Given the description of an element on the screen output the (x, y) to click on. 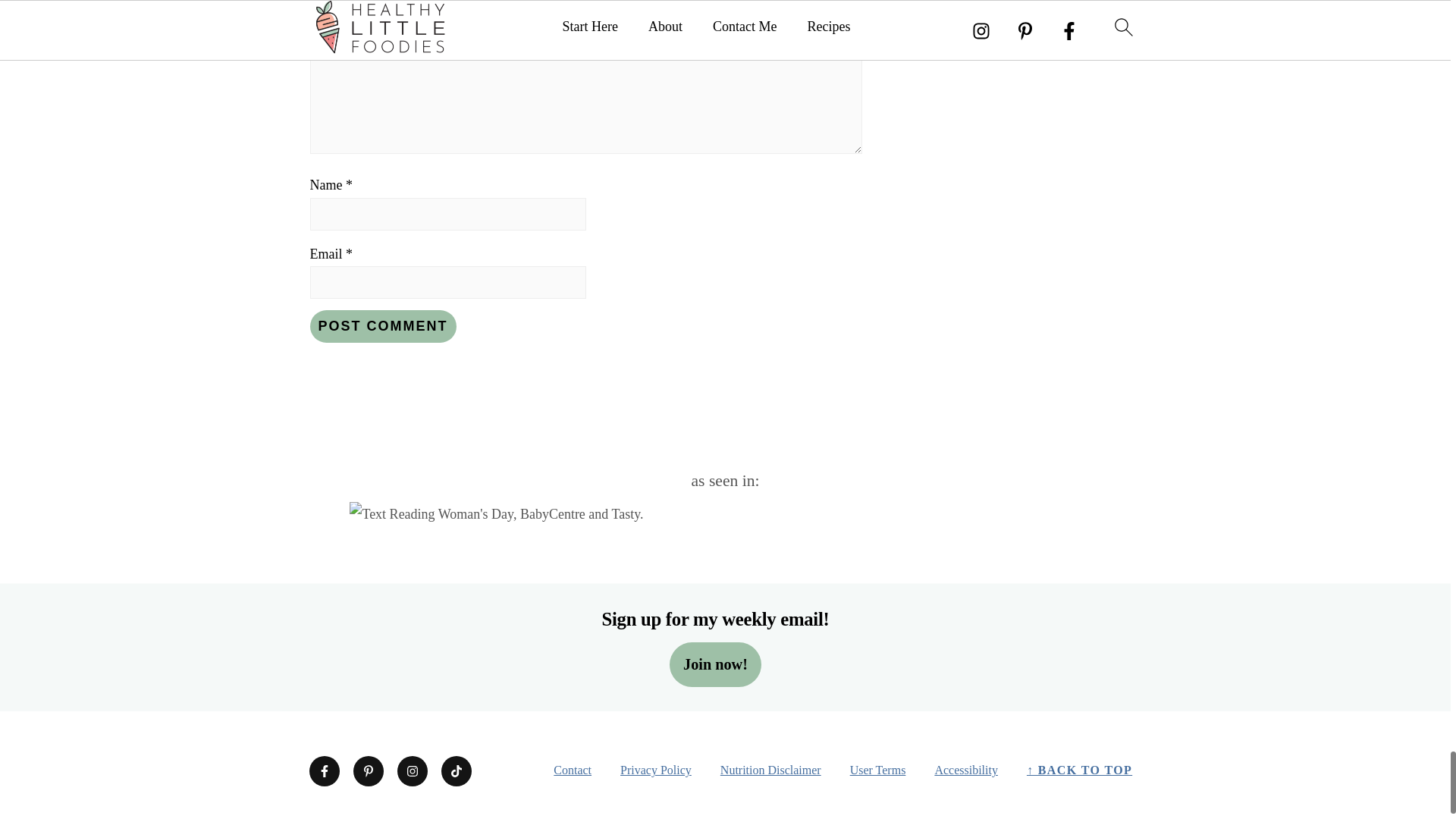
Post Comment (381, 326)
